Given the description of an element on the screen output the (x, y) to click on. 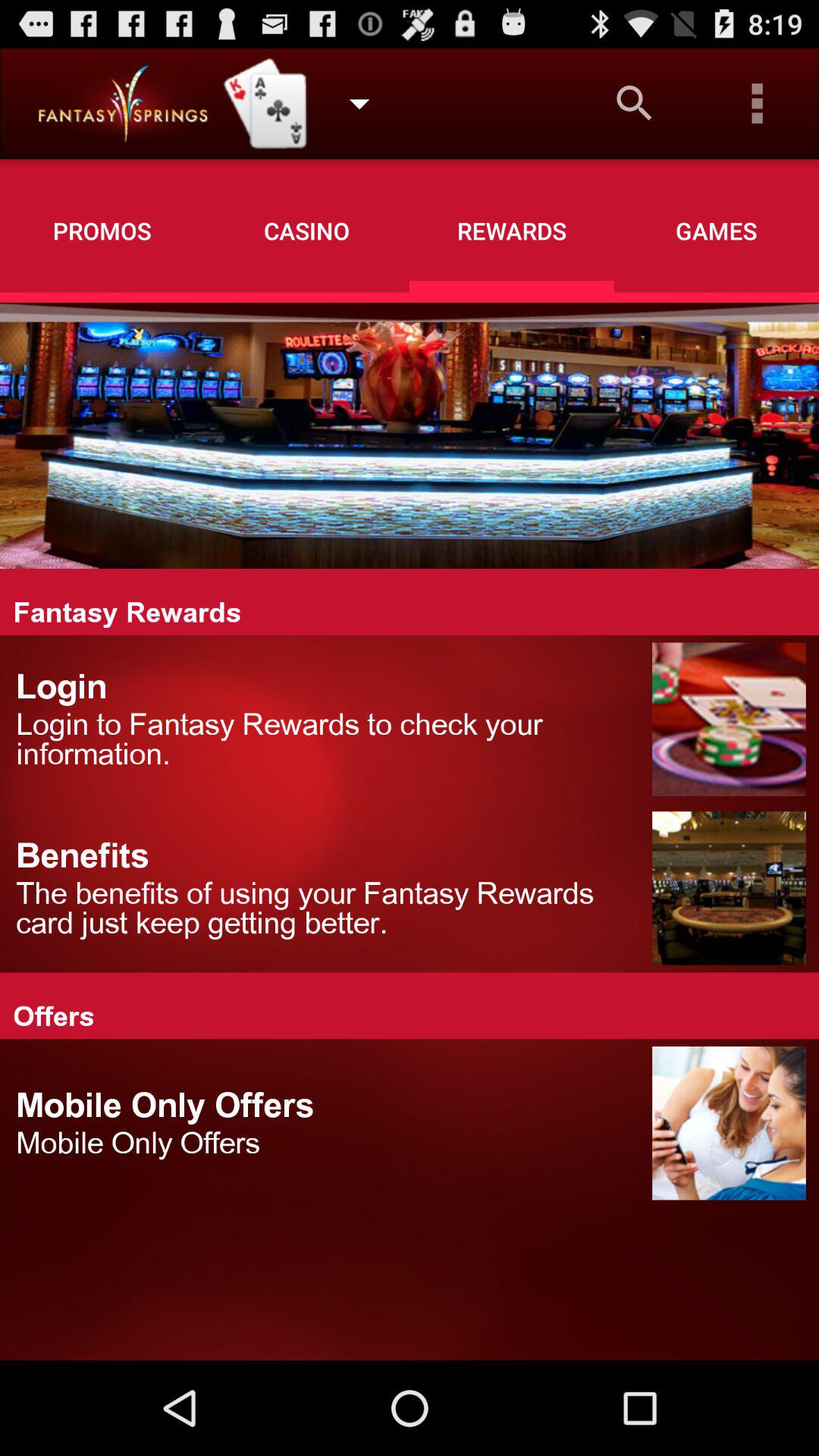
open menu (757, 103)
